Given the description of an element on the screen output the (x, y) to click on. 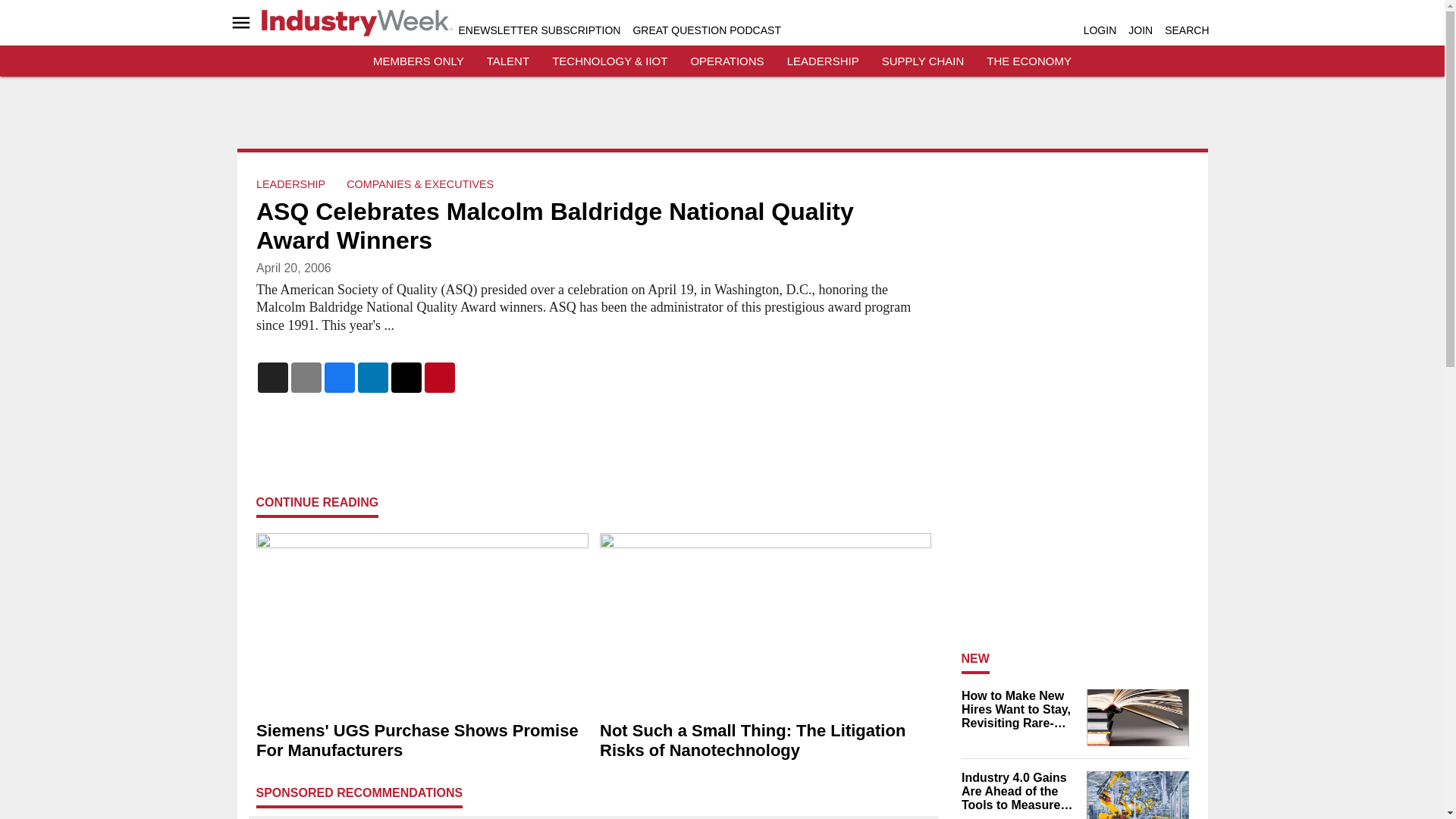
LOGIN (1099, 30)
SUPPLY CHAIN (922, 60)
LEADERSHIP (290, 184)
ENEWSLETTER SUBSCRIPTION (539, 30)
GREAT QUESTION PODCAST (705, 30)
JOIN (1140, 30)
TALENT (507, 60)
OPERATIONS (726, 60)
MEMBERS ONLY (418, 60)
LEADERSHIP (823, 60)
